Given the description of an element on the screen output the (x, y) to click on. 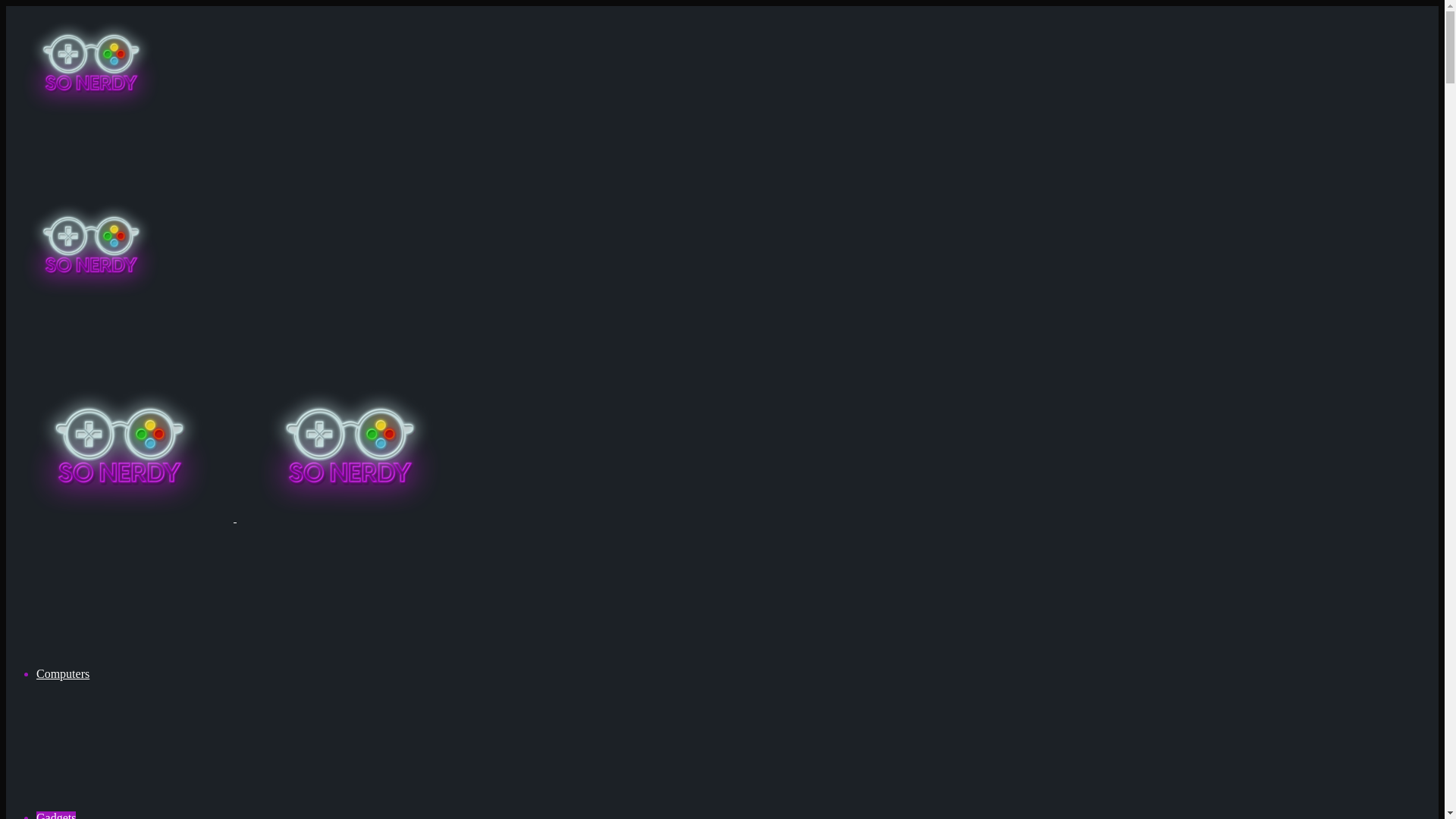
Computers (62, 673)
Gadgets (55, 815)
So Nerdy (90, 205)
So Nerdy (234, 517)
